Given the description of an element on the screen output the (x, y) to click on. 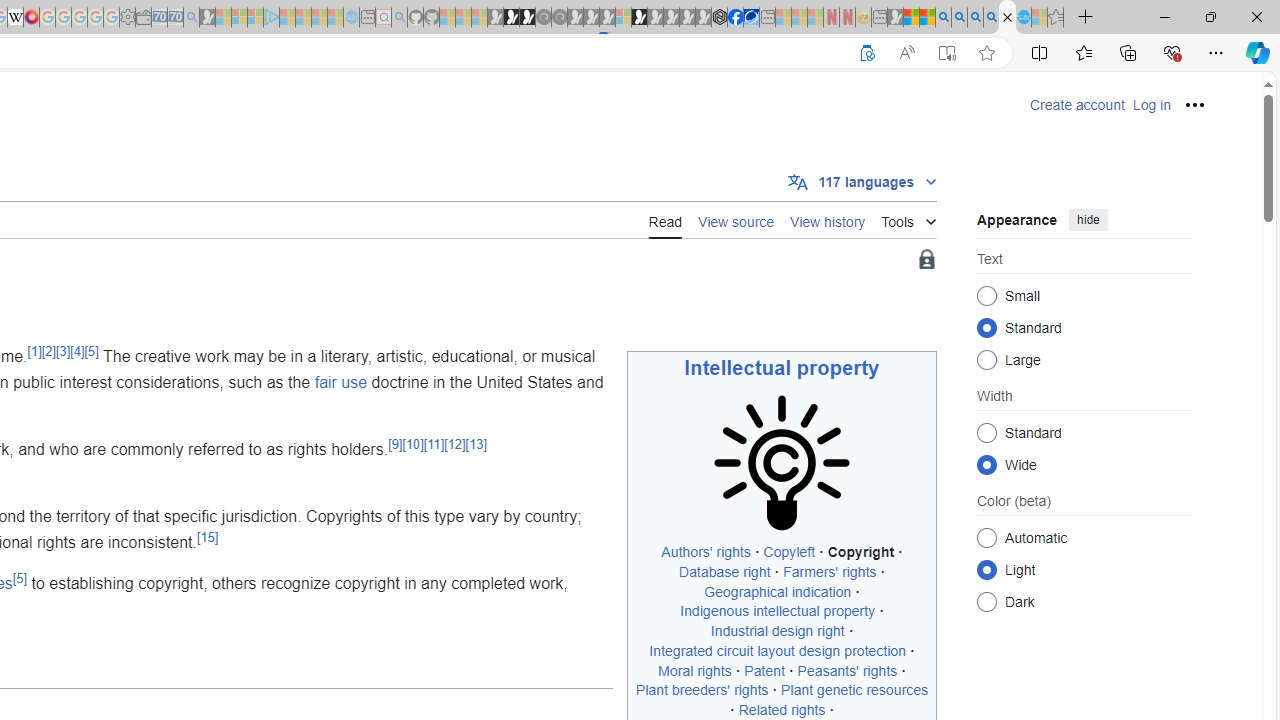
Geographical indication (778, 591)
View source (735, 219)
View history (827, 219)
Standard (986, 431)
Google Chrome Internet Browser Download - Search Images (991, 17)
Nordace | Facebook (735, 17)
Industrial design right (777, 631)
hide (1088, 219)
Dark (986, 601)
MSN - Sleeping (895, 17)
Microsoft account | Privacy - Sleeping (255, 17)
Create account (1077, 105)
